Given the description of an element on the screen output the (x, y) to click on. 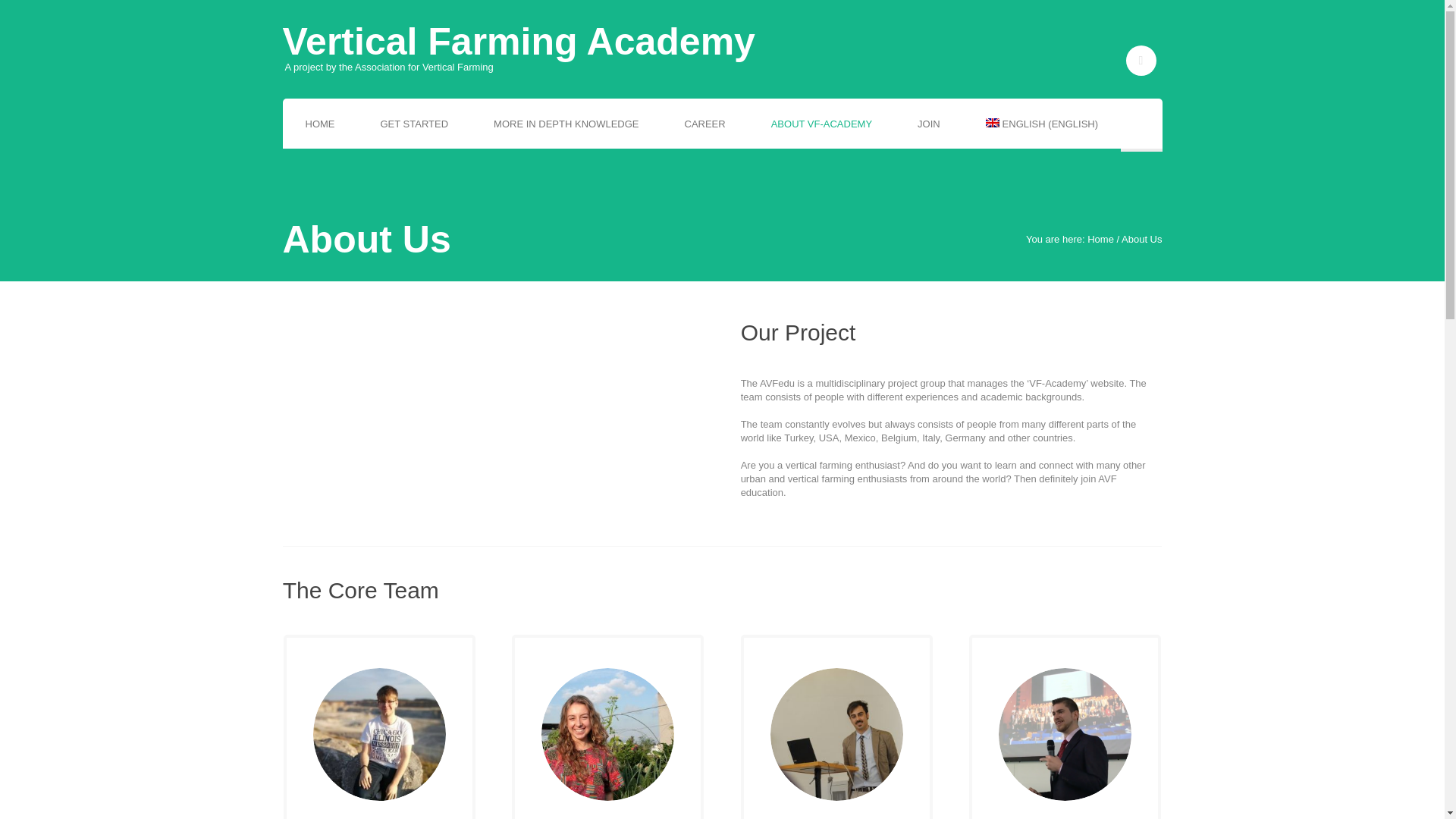
English (991, 122)
JOIN (928, 124)
Petr Kirpeit (379, 734)
GET STARTED (414, 124)
ABOUT VF-ACADEMY (821, 124)
MORE IN DEPTH KNOWLEDGE (565, 124)
English (1041, 124)
CAREER (704, 124)
Home (1100, 238)
